Given the description of an element on the screen output the (x, y) to click on. 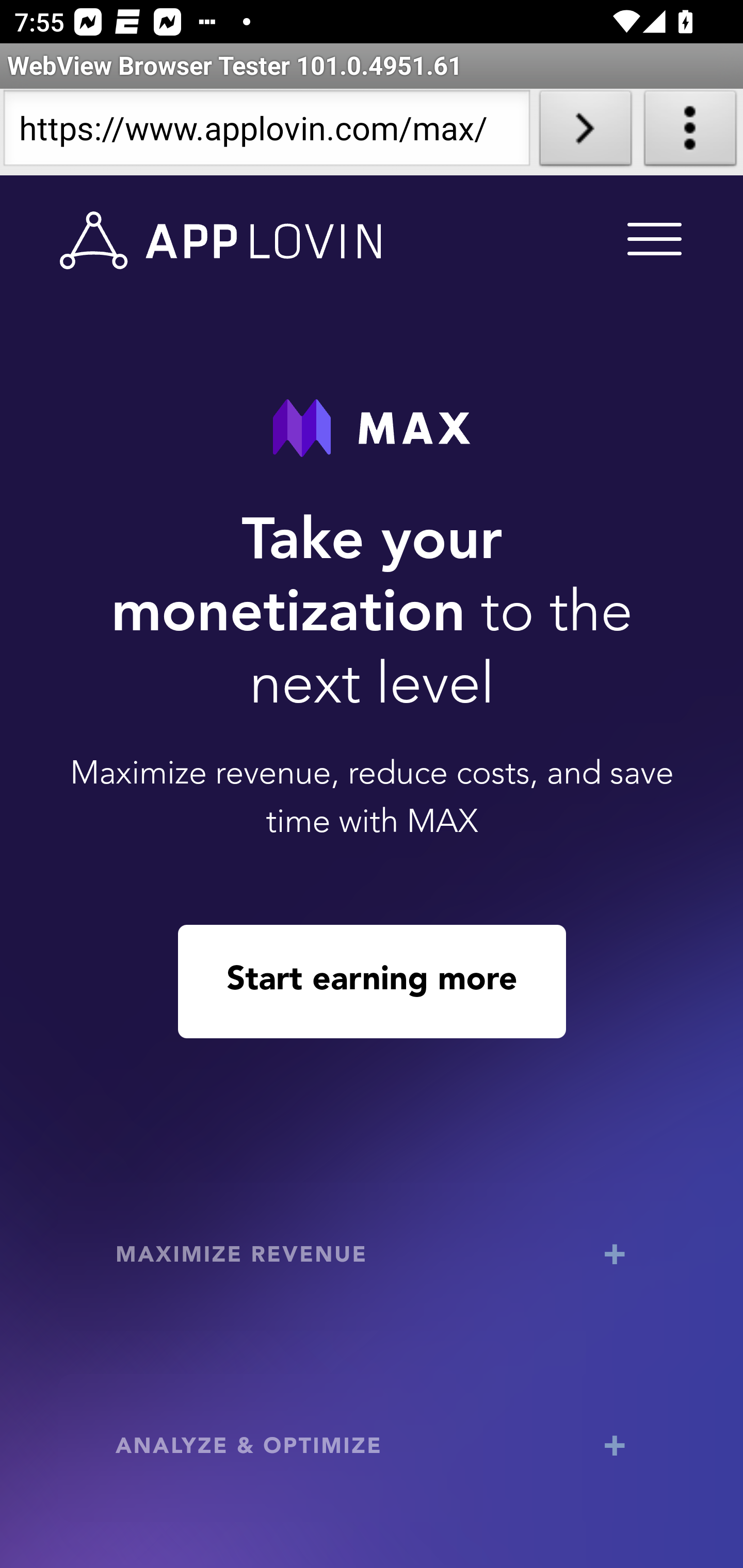
https://www.applovin.com/max/ (266, 132)
Load URL (585, 132)
About WebView (690, 132)
Menu Trigger (650, 237)
www.applovin (220, 241)
Start earning more (371, 980)
MAXIMIZE REVENUE + (372, 1256)
ANALYZE & OPTIMIZE + (372, 1448)
